Given the description of an element on the screen output the (x, y) to click on. 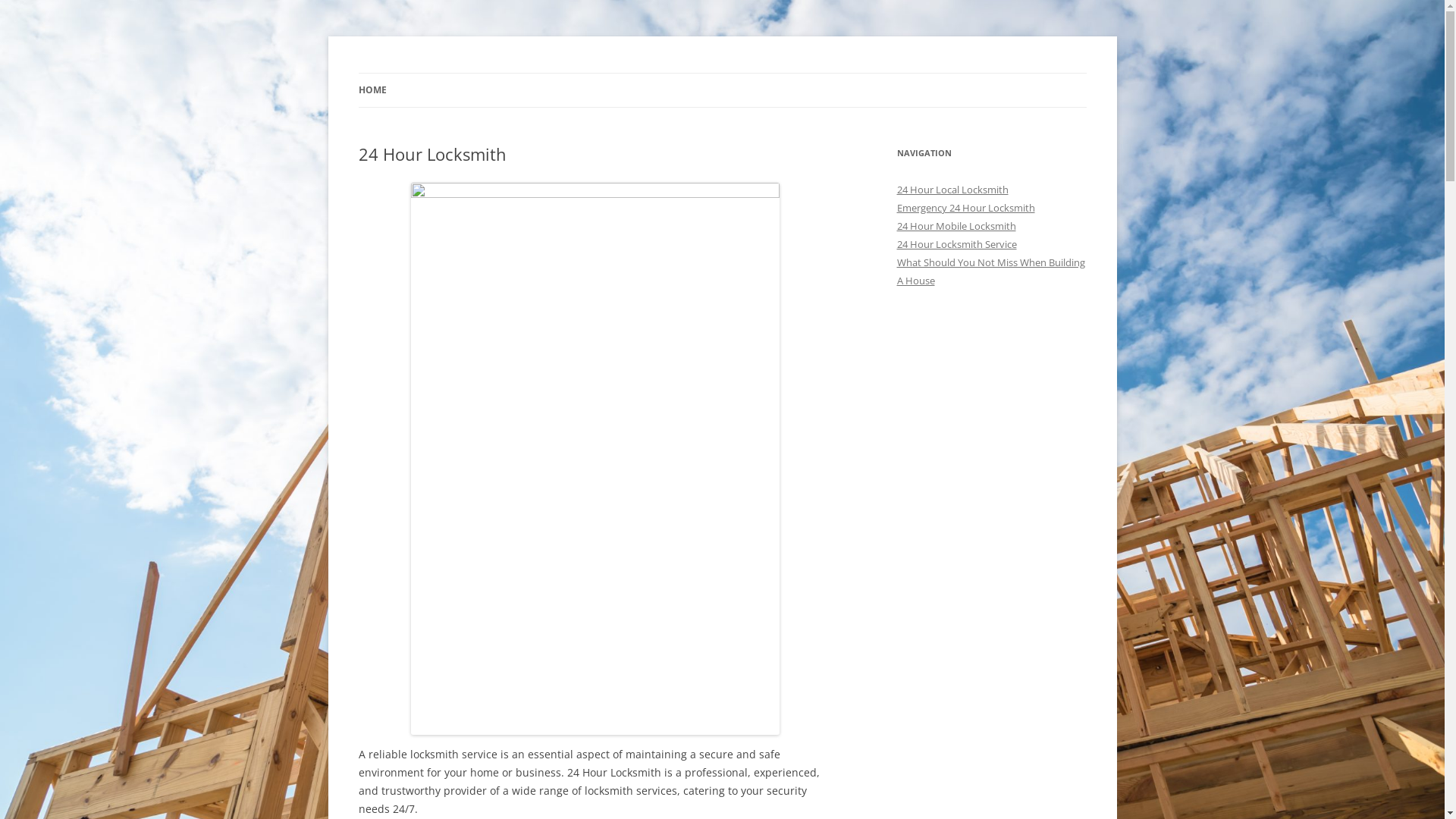
24 Hour Locksmith Service Element type: text (956, 244)
24 Hour Local Locksmith Element type: text (951, 189)
What Should You Not Miss When Building A House Element type: text (990, 271)
24 Hour Mobile Locksmith Element type: text (955, 225)
Skip to content Element type: text (721, 72)
HOME Element type: text (371, 89)
Emergency 24 Hour Locksmith Element type: text (965, 207)
24 Hour Locksmith Element type: text (449, 72)
